Given the description of an element on the screen output the (x, y) to click on. 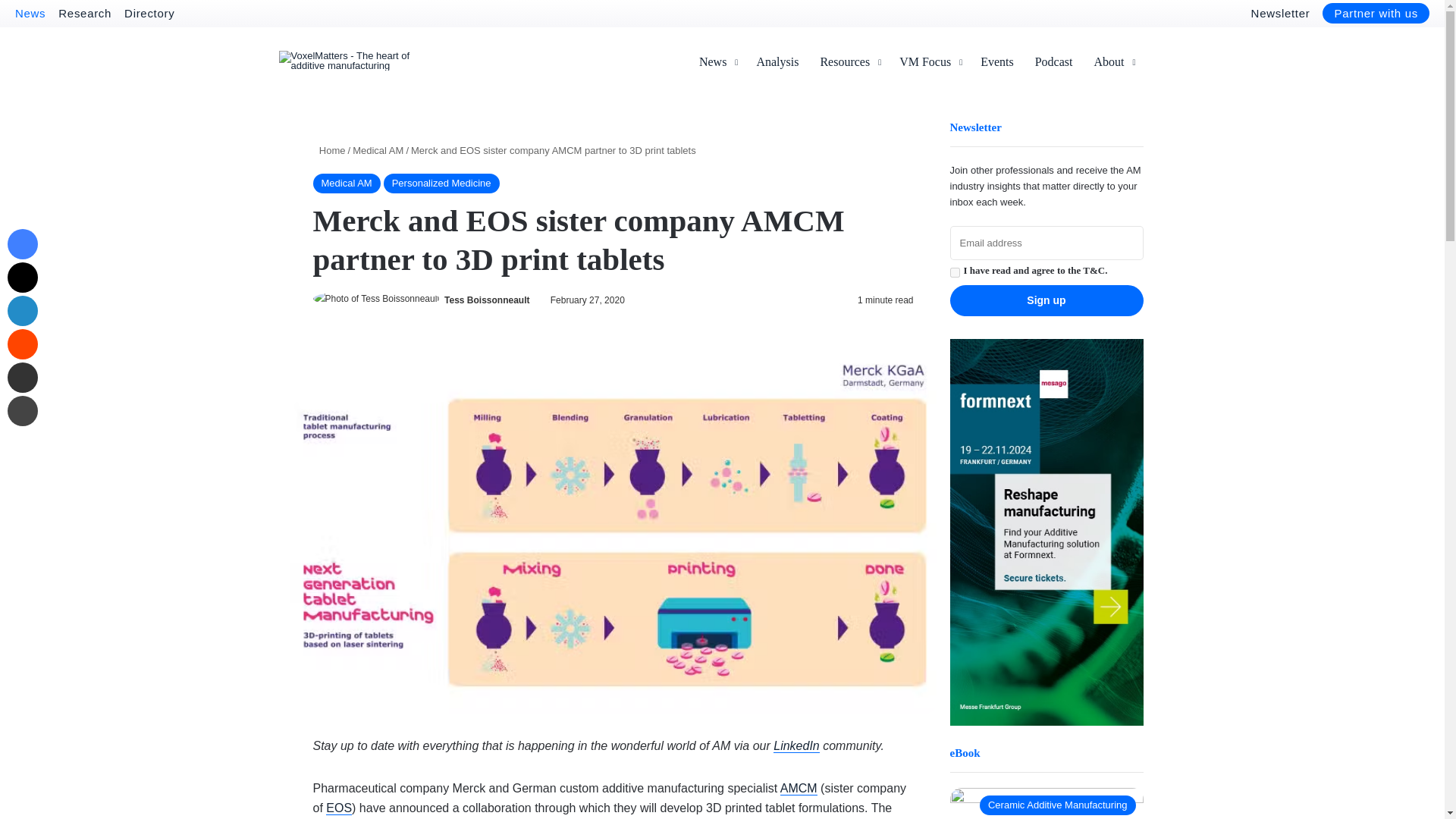
Resources (848, 62)
Reddit (22, 344)
Analysis (777, 62)
Sign up (1045, 300)
Tess Boissonneault (486, 299)
LinkedIn (22, 310)
Partner with us (1375, 13)
Facebook (22, 244)
Newsletter (1280, 12)
Share via Email (22, 377)
